Given the description of an element on the screen output the (x, y) to click on. 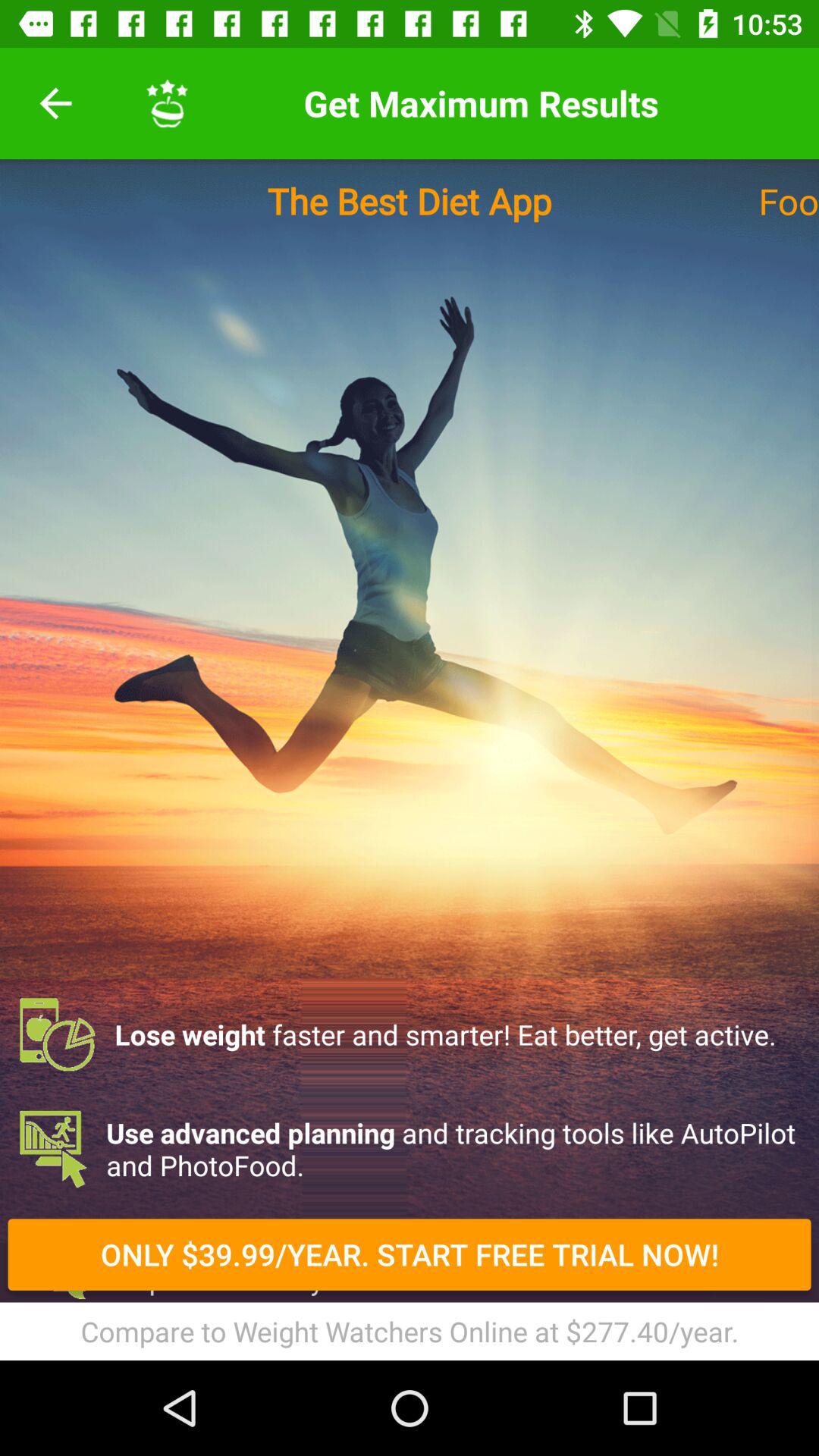
flip to the get diet advice item (409, 1262)
